Given the description of an element on the screen output the (x, y) to click on. 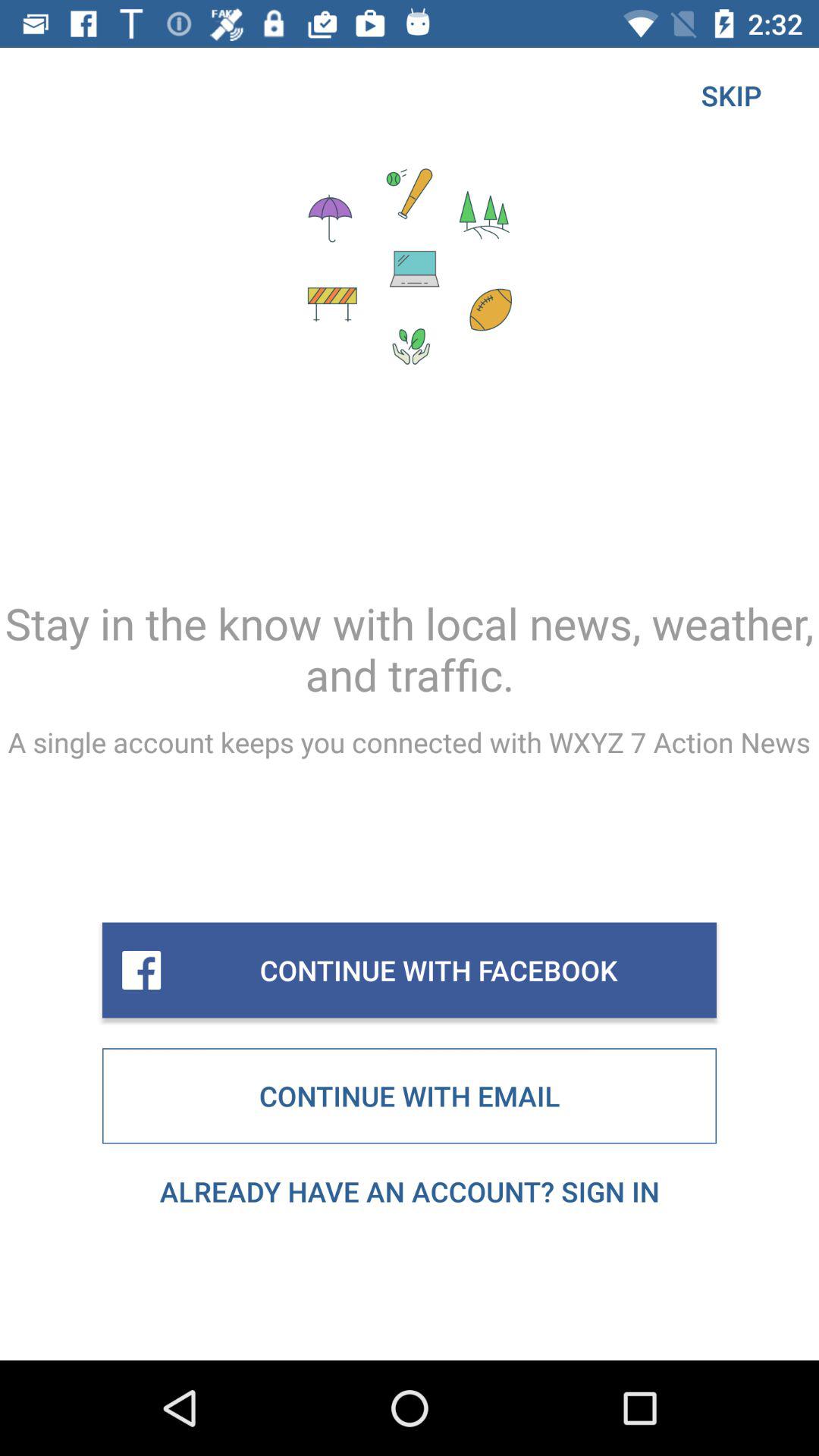
flip until the skip icon (731, 95)
